Given the description of an element on the screen output the (x, y) to click on. 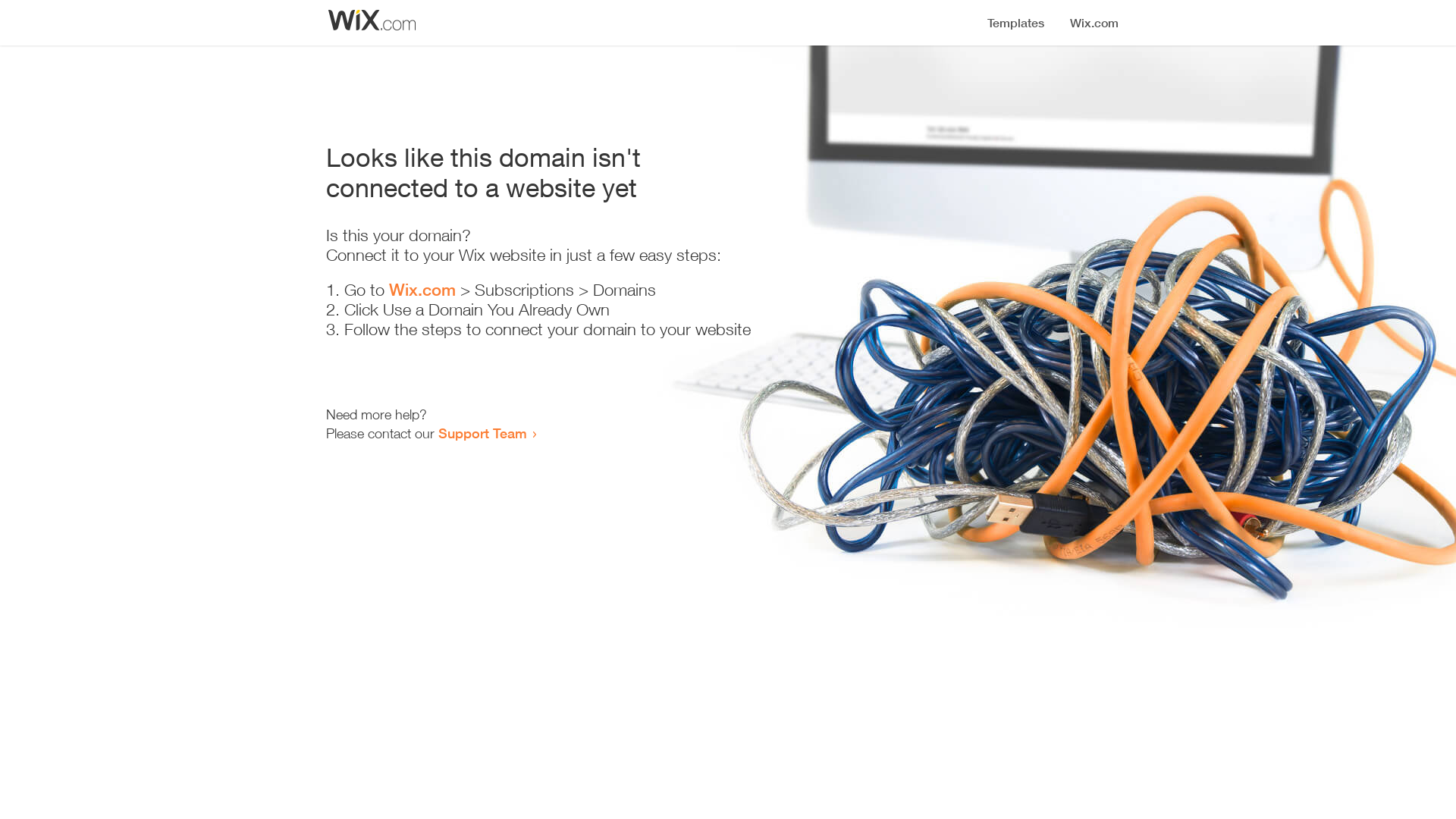
Support Team Element type: text (482, 432)
Wix.com Element type: text (422, 289)
